Given the description of an element on the screen output the (x, y) to click on. 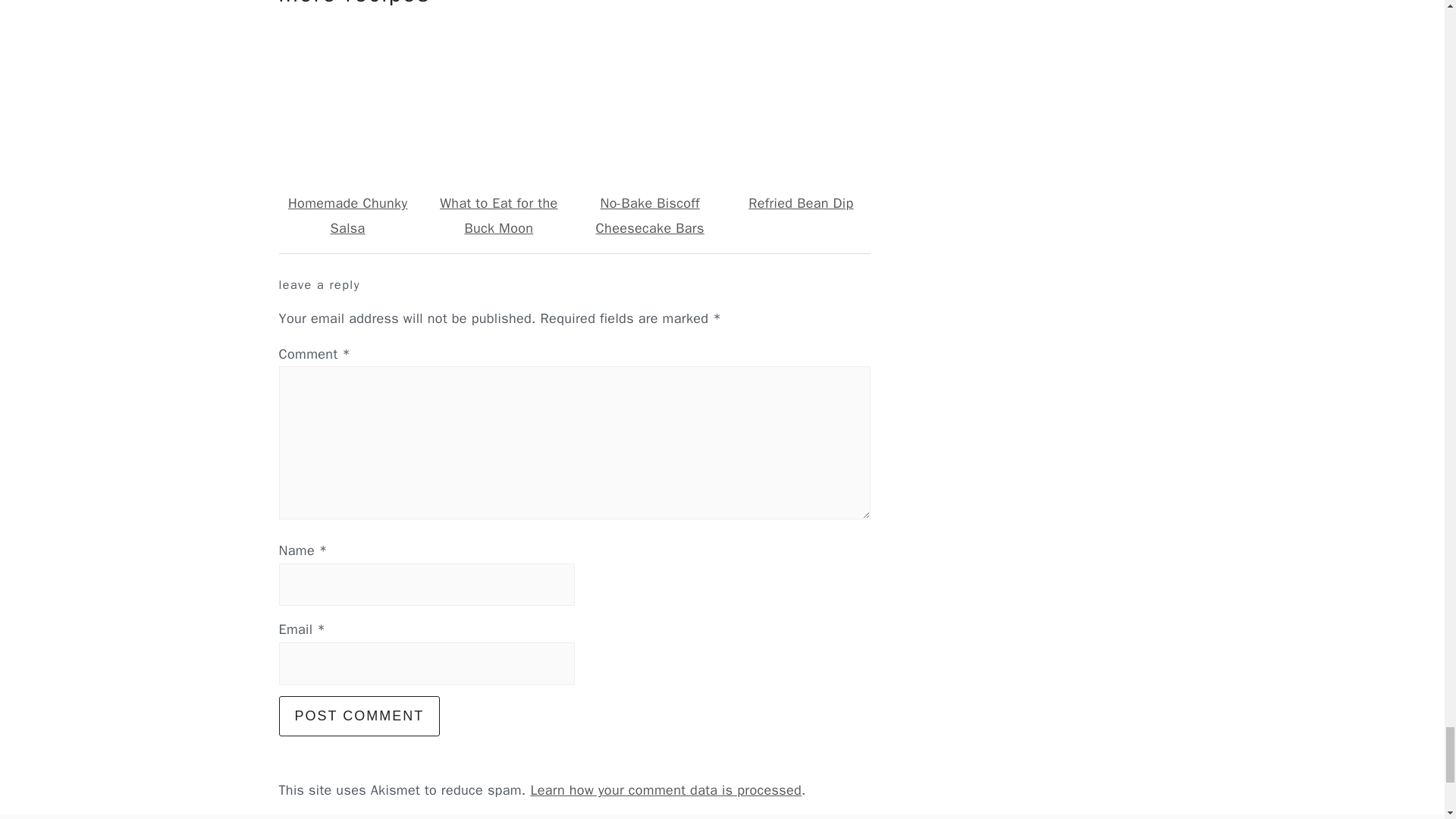
Post Comment (360, 716)
